Given the description of an element on the screen output the (x, y) to click on. 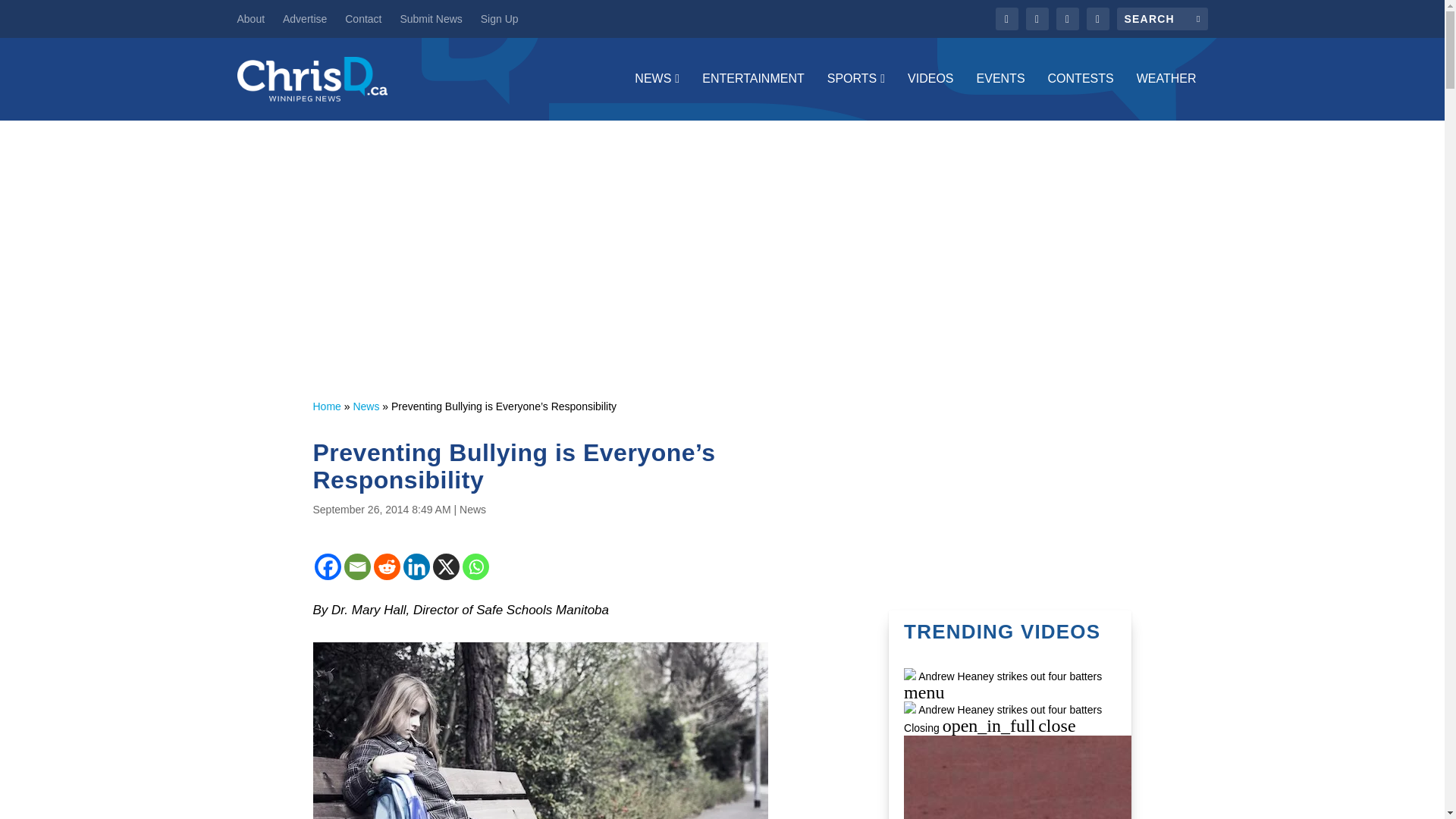
X (445, 566)
ENTERTAINMENT (753, 96)
SPORTS (856, 96)
NEWS (656, 96)
VIDEOS (930, 96)
Whatsapp (476, 566)
Contact (363, 18)
Submit News (429, 18)
Advertise (304, 18)
Facebook (327, 566)
Reddit (385, 566)
WEATHER (1166, 96)
Linkedin (416, 566)
3rd party ad content (1010, 493)
Search for: (1161, 18)
